Given the description of an element on the screen output the (x, y) to click on. 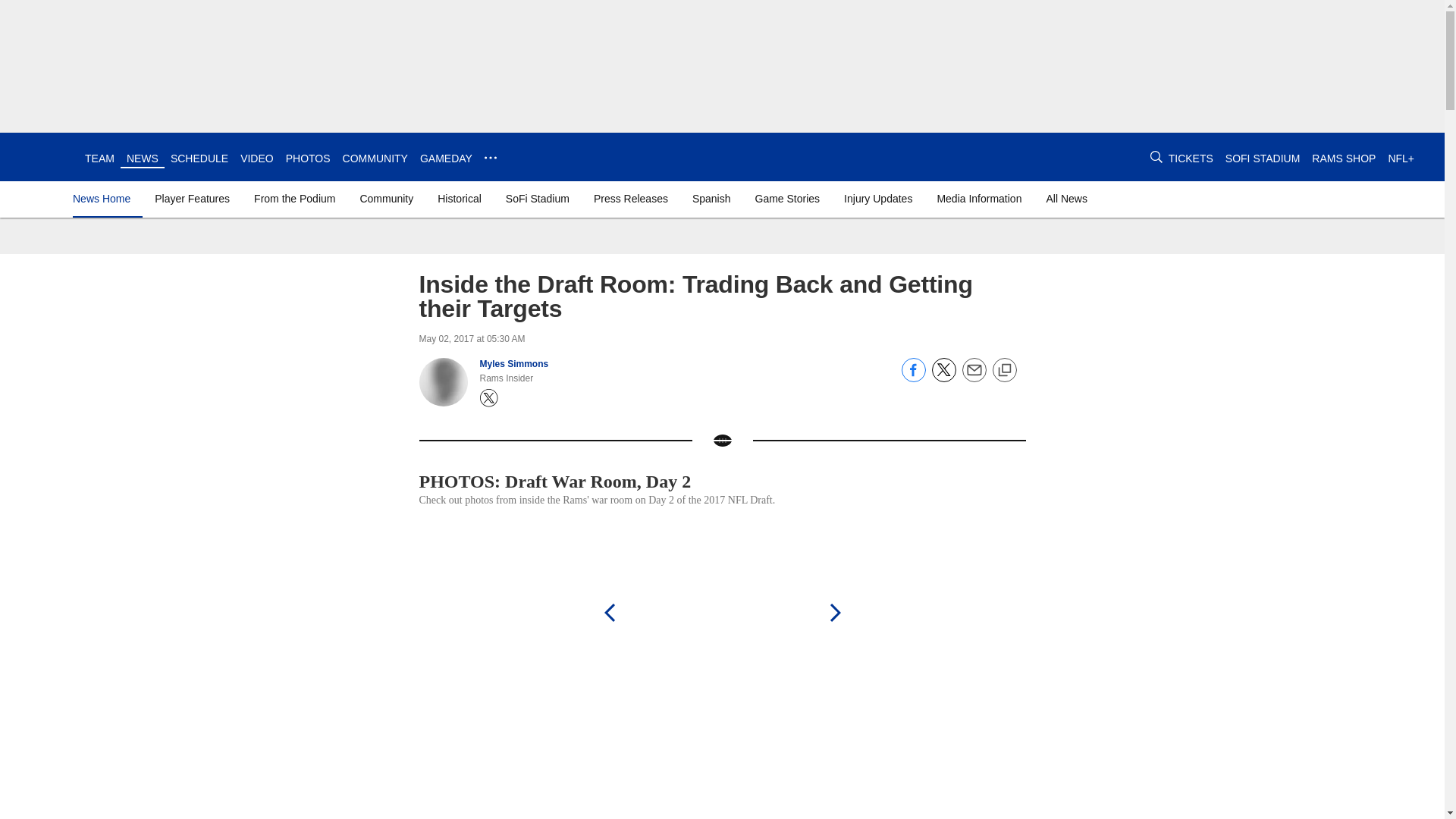
TEAM (99, 158)
SoFi Stadium (537, 198)
Community (386, 198)
From the Podium (293, 198)
GAMEDAY (445, 158)
Media Information (978, 198)
SCHEDULE (199, 158)
COMMUNITY (374, 158)
VIDEO (256, 158)
RAMS SHOP (1343, 158)
